Given the description of an element on the screen output the (x, y) to click on. 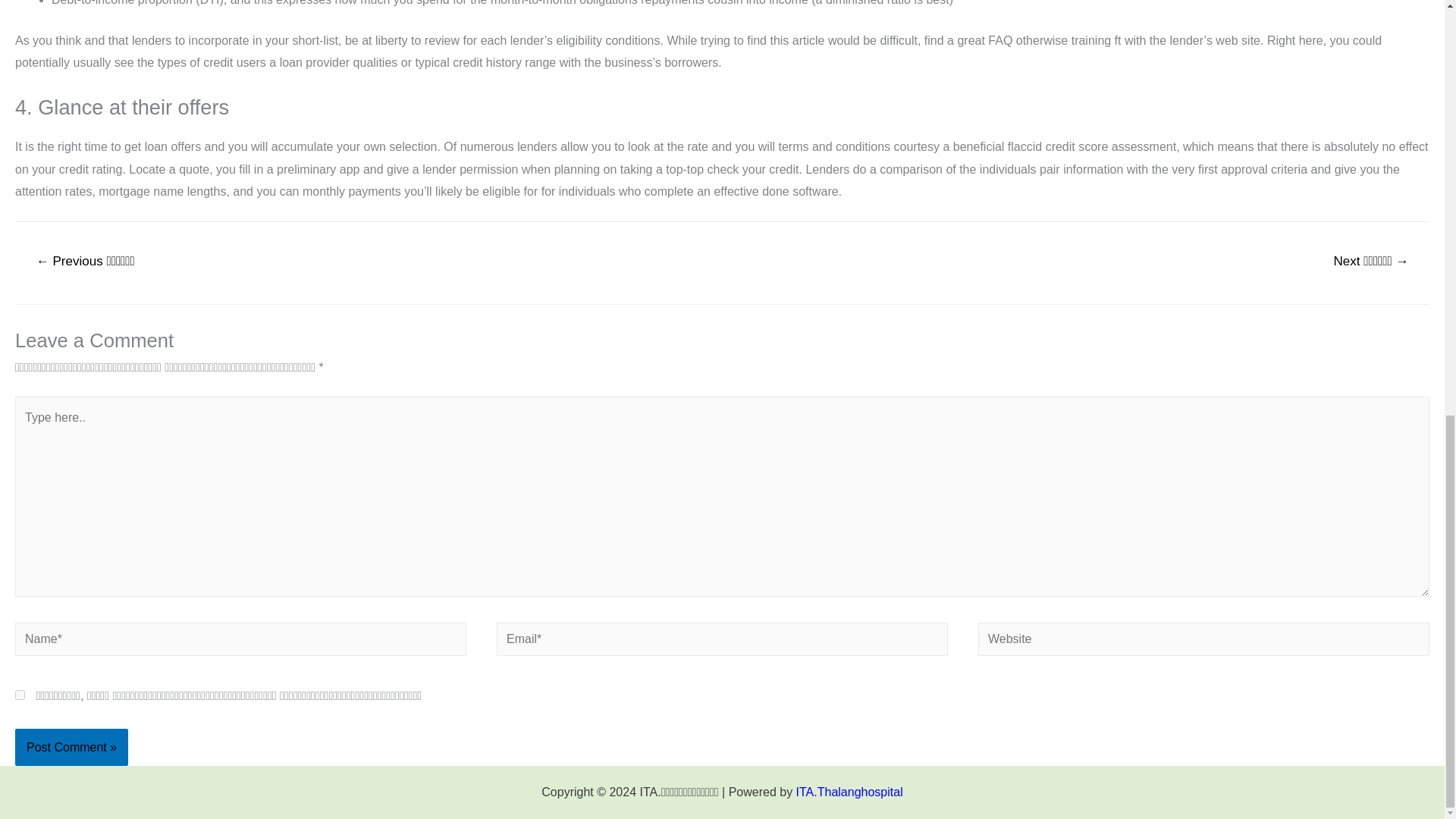
yes (19, 695)
